Given the description of an element on the screen output the (x, y) to click on. 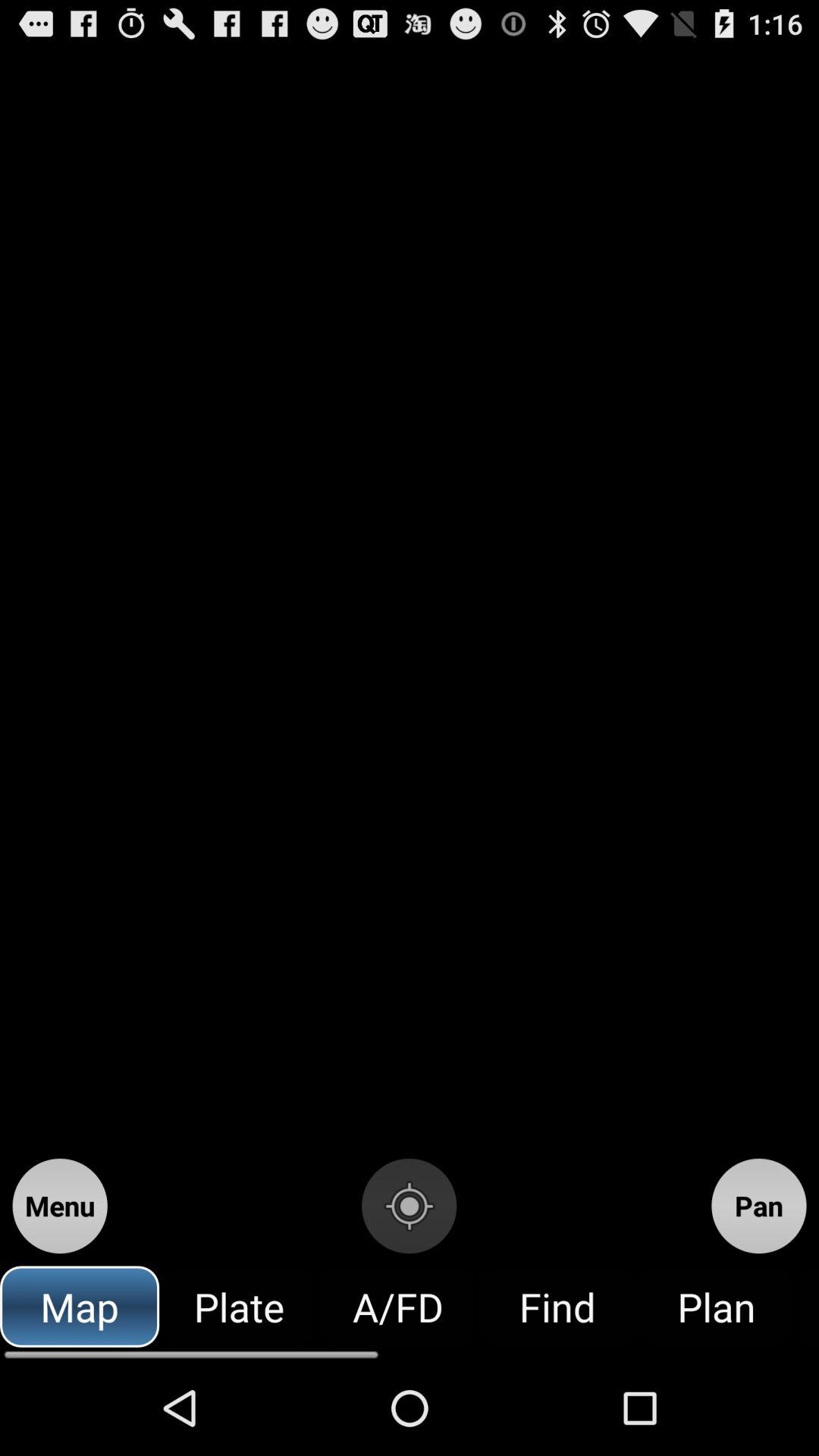
turn on the icon to the left of pan item (408, 1205)
